Given the description of an element on the screen output the (x, y) to click on. 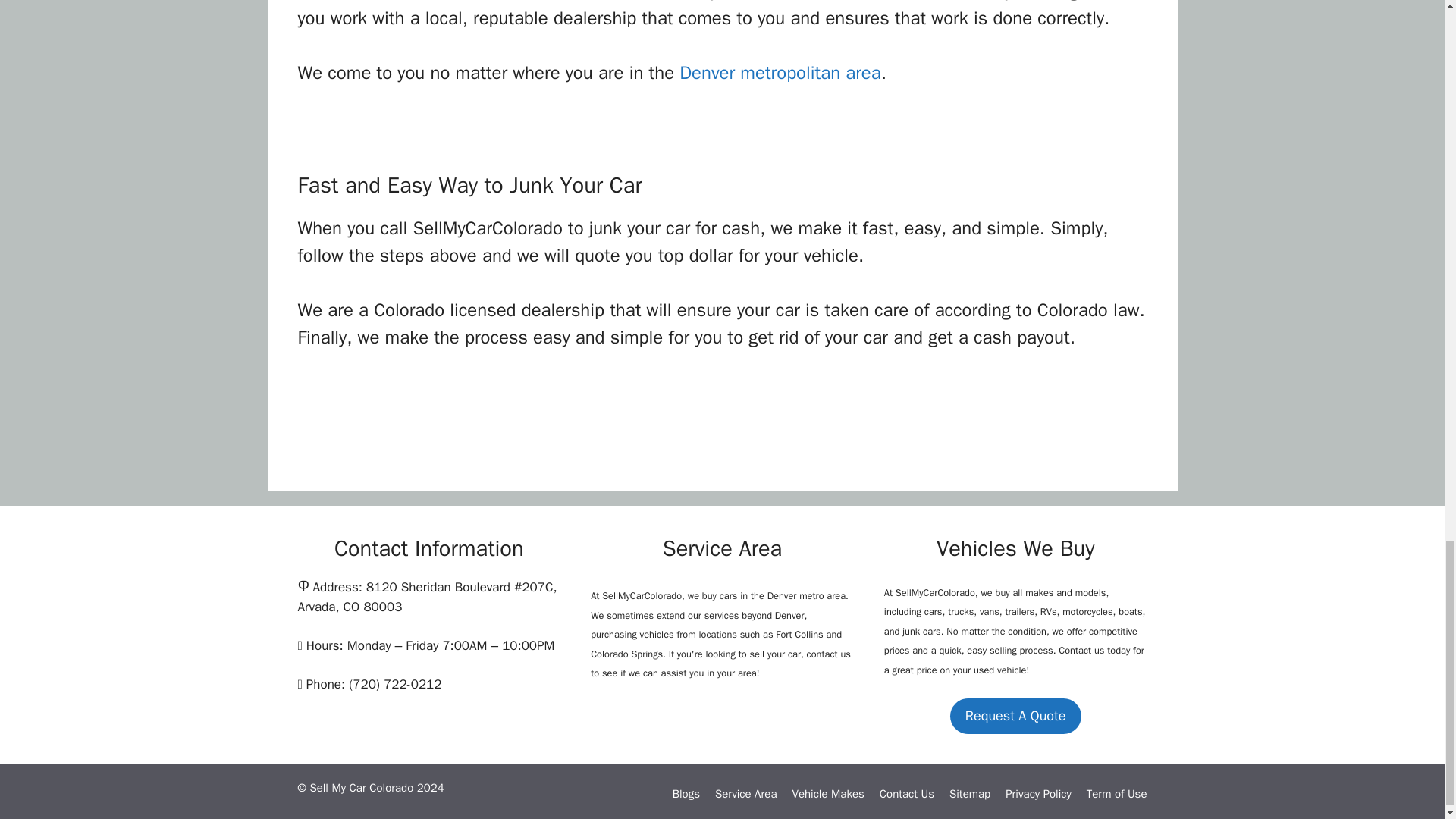
Denver metropolitan area (779, 72)
Request A Quote (1015, 715)
Blogs (686, 793)
Vehicle Makes (827, 793)
Term of Use (1116, 793)
Contact Us (906, 793)
Privacy Policy (1038, 793)
Sitemap (969, 793)
Service Area (745, 793)
